Given the description of an element on the screen output the (x, y) to click on. 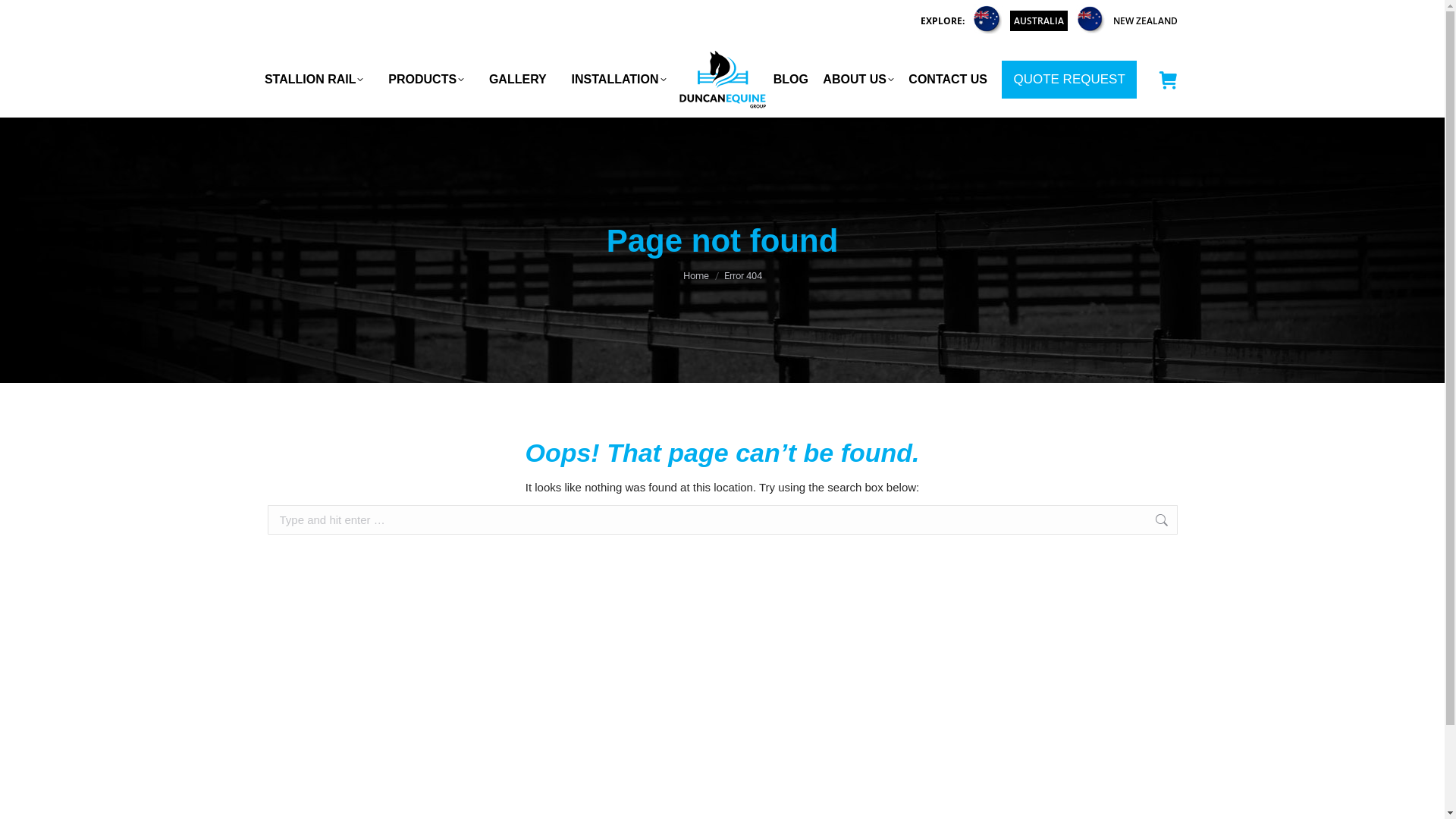
BLOG Element type: text (790, 79)
QUOTE REQUEST Element type: text (1068, 79)
  Element type: text (1167, 79)
Home Element type: text (695, 275)
Go! Element type: text (1200, 525)
GALLERY Element type: text (517, 79)
QUOTE REQUEST Element type: text (1068, 79)
ABOUT US Element type: text (858, 79)
STALLION RAIL Element type: text (314, 79)
INSTALLATION Element type: text (618, 79)
PRODUCTS Element type: text (425, 79)
CONTACT US Element type: text (947, 79)
AUSTRALIA Element type: text (1038, 20)
NEW ZEALAND Element type: text (1145, 19)
